Given the description of an element on the screen output the (x, y) to click on. 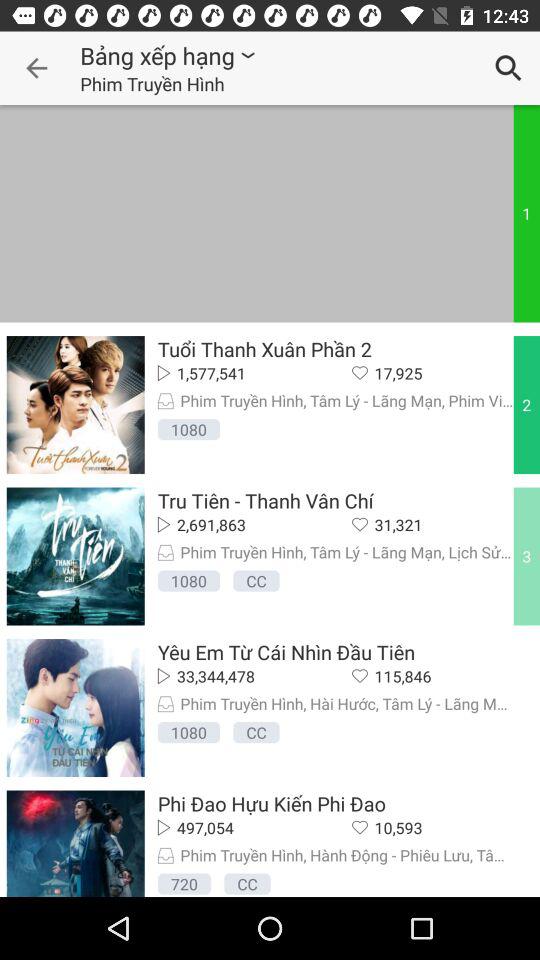
select the first image of the page (76, 405)
